Given the description of an element on the screen output the (x, y) to click on. 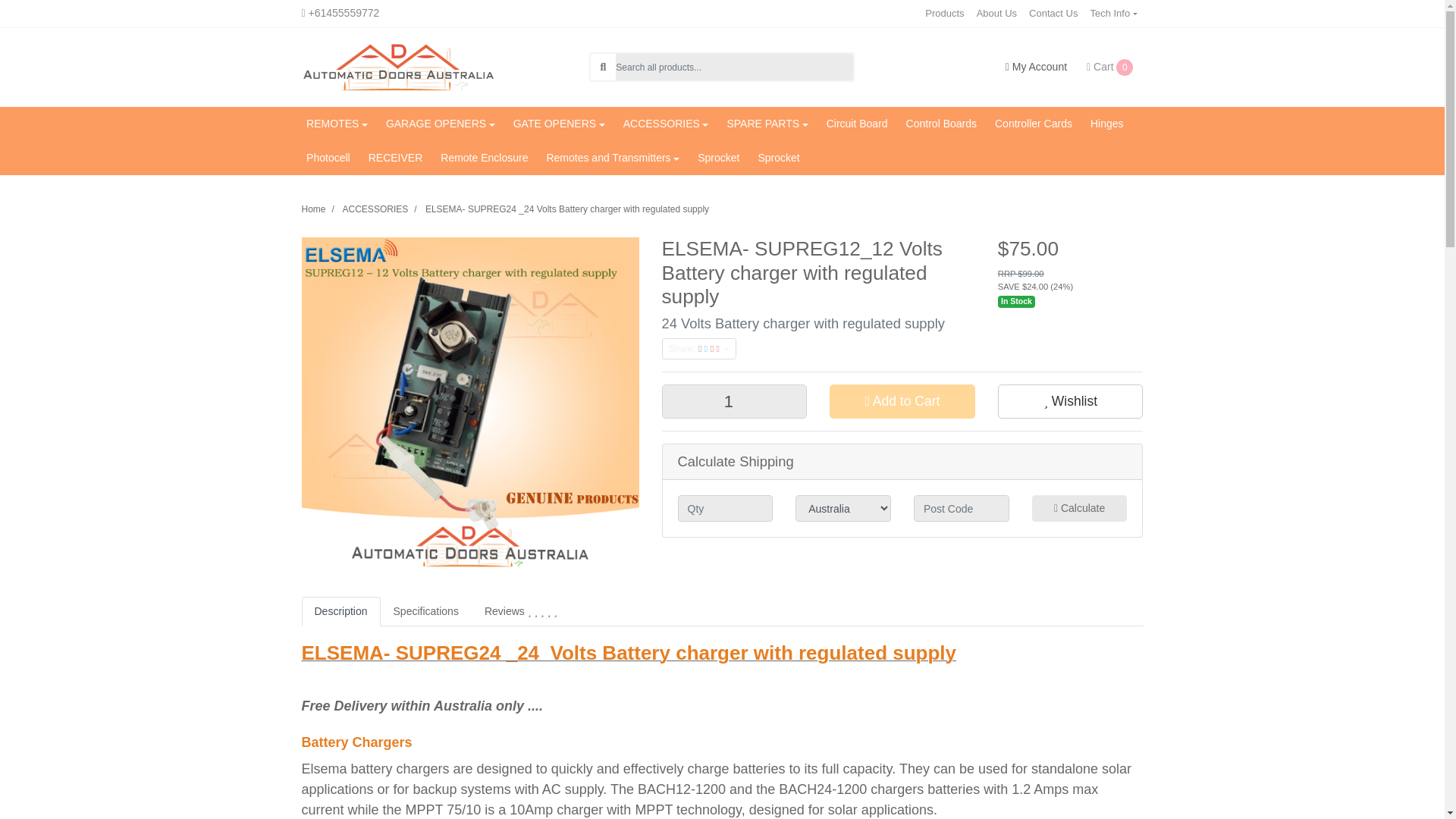
Contact Us (1053, 13)
Add To Wishlist (1069, 400)
My Account (1036, 67)
REMOTES (337, 123)
Tech Info (1112, 13)
Products (943, 13)
GARAGE OPENERS (440, 123)
Cart 0 (1109, 67)
Calculate (1079, 508)
1 (733, 401)
Search (602, 67)
Automatic Doors Australia (398, 66)
About Us (997, 13)
